Given the description of an element on the screen output the (x, y) to click on. 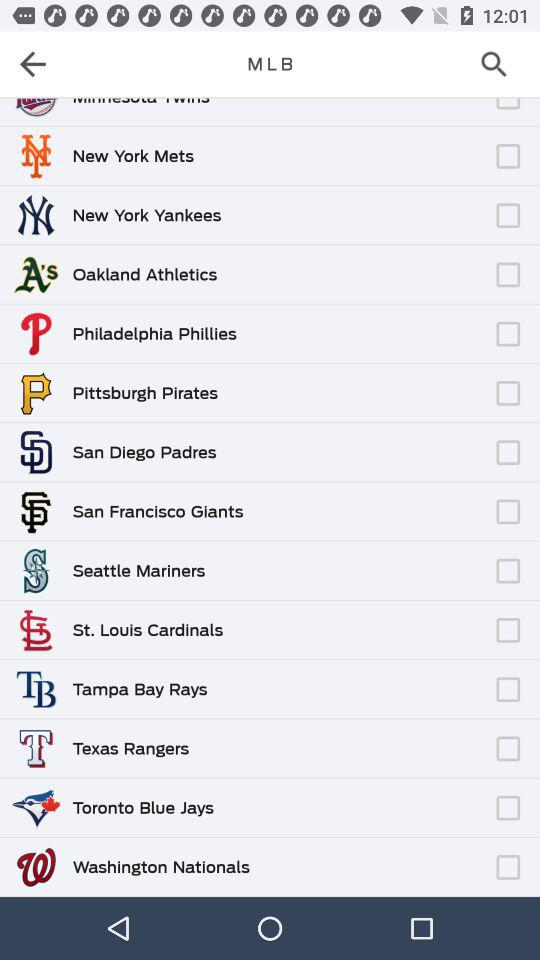
tap washington nationals (160, 866)
